Given the description of an element on the screen output the (x, y) to click on. 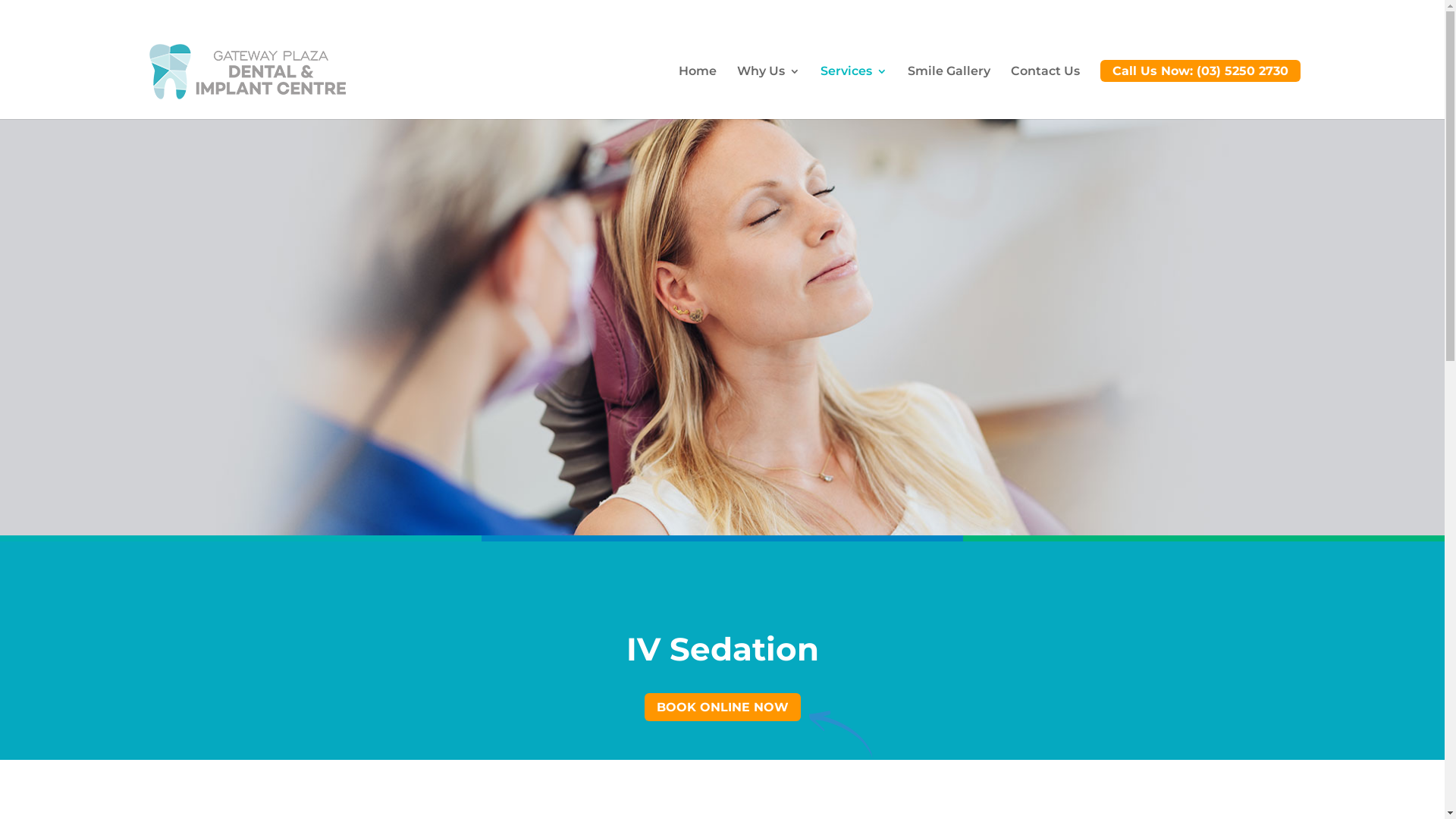
Call Us Now: (03) 5250 2730 Element type: text (1199, 89)
BOOK ONLINE NOW Element type: text (722, 707)
Why Us Element type: text (768, 89)
Contact Us Element type: text (1044, 89)
Home Element type: text (696, 89)
Services Element type: text (853, 89)
Smile Gallery Element type: text (947, 89)
